Given the description of an element on the screen output the (x, y) to click on. 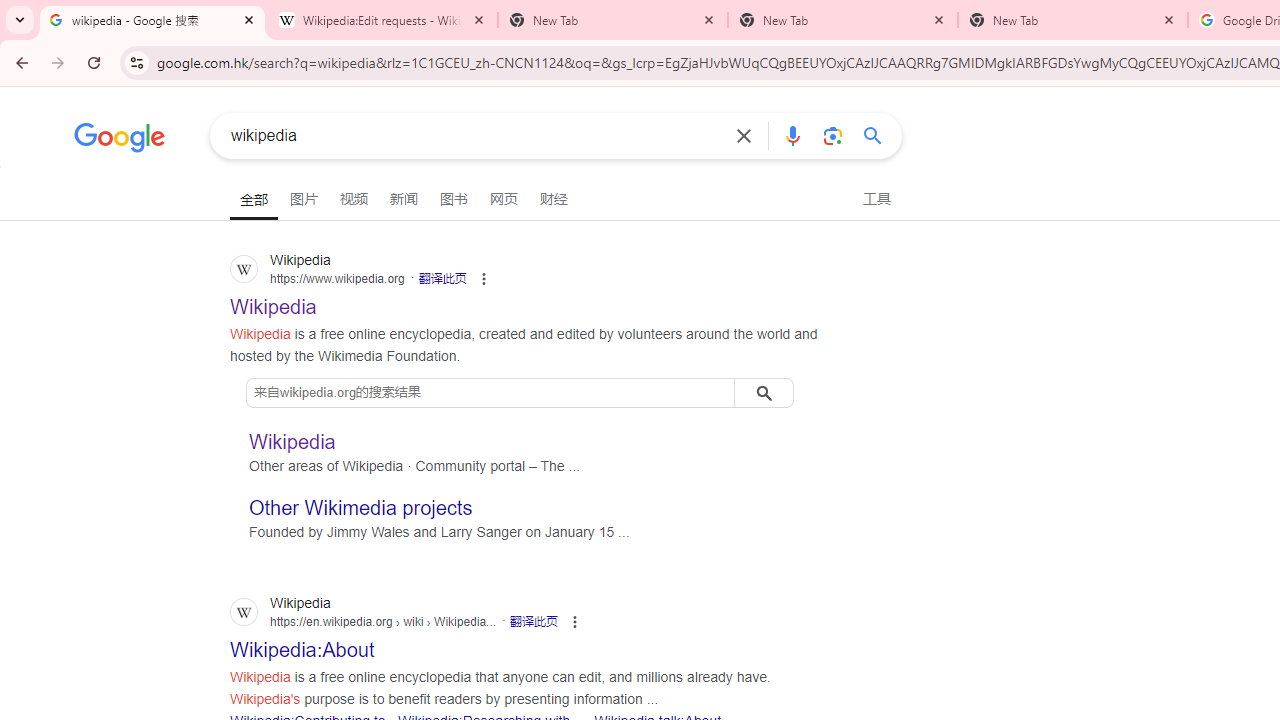
Wikipedia:Edit requests - Wikipedia (382, 20)
Wikipedia (292, 440)
